Given the description of an element on the screen output the (x, y) to click on. 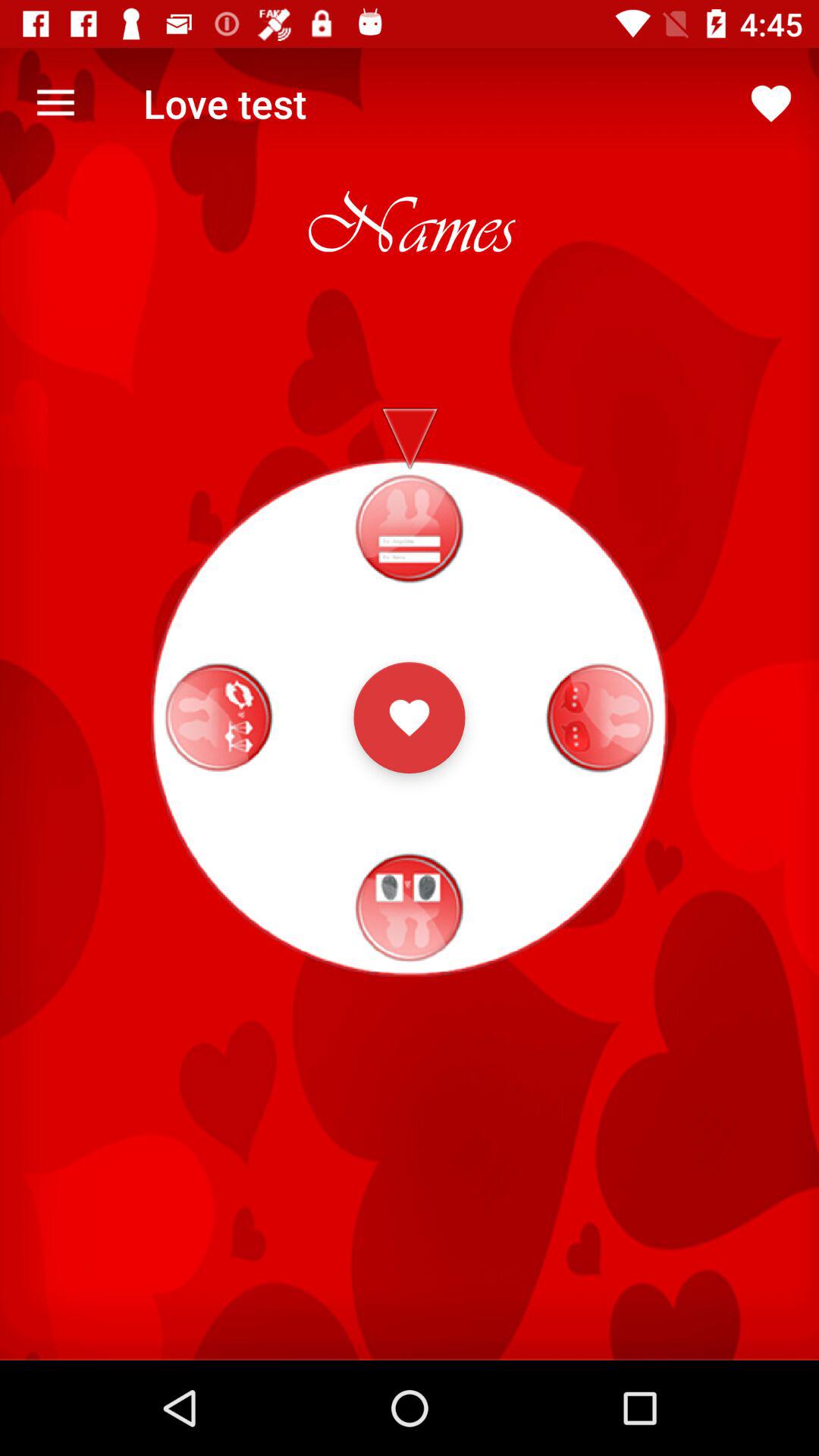
aqui esta ella (409, 717)
